Given the description of an element on the screen output the (x, y) to click on. 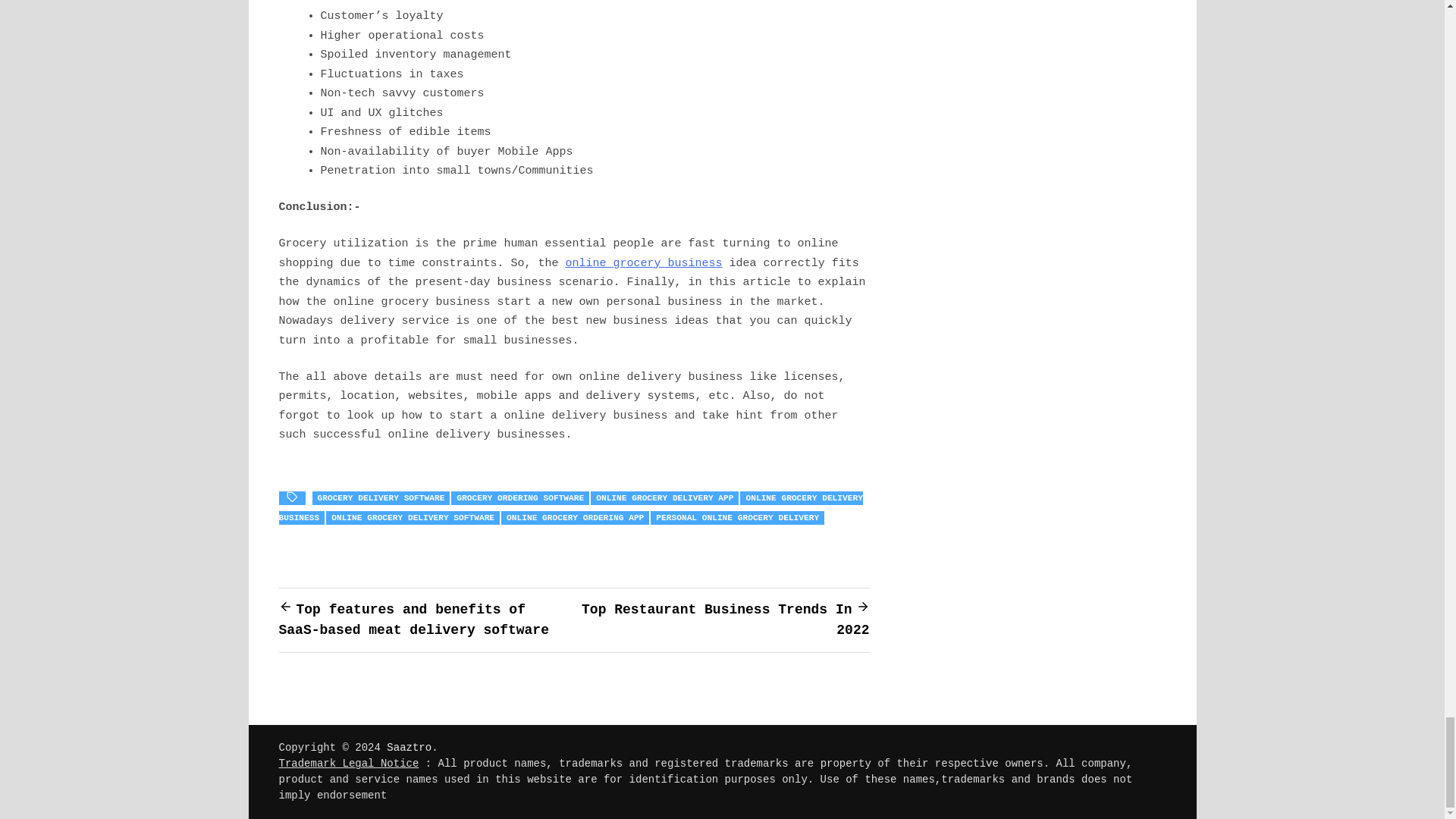
GROCERY DELIVERY SOFTWARE (381, 498)
Top Restaurant Business Trends In 2022 (724, 619)
GROCERY ORDERING SOFTWARE (520, 498)
Saaztro (408, 747)
ONLINE GROCERY DELIVERY BUSINESS (571, 507)
ONLINE GROCERY ORDERING APP (574, 517)
ONLINE GROCERY DELIVERY APP (664, 498)
online grocery business (644, 263)
PERSONAL ONLINE GROCERY DELIVERY (737, 517)
